Given the description of an element on the screen output the (x, y) to click on. 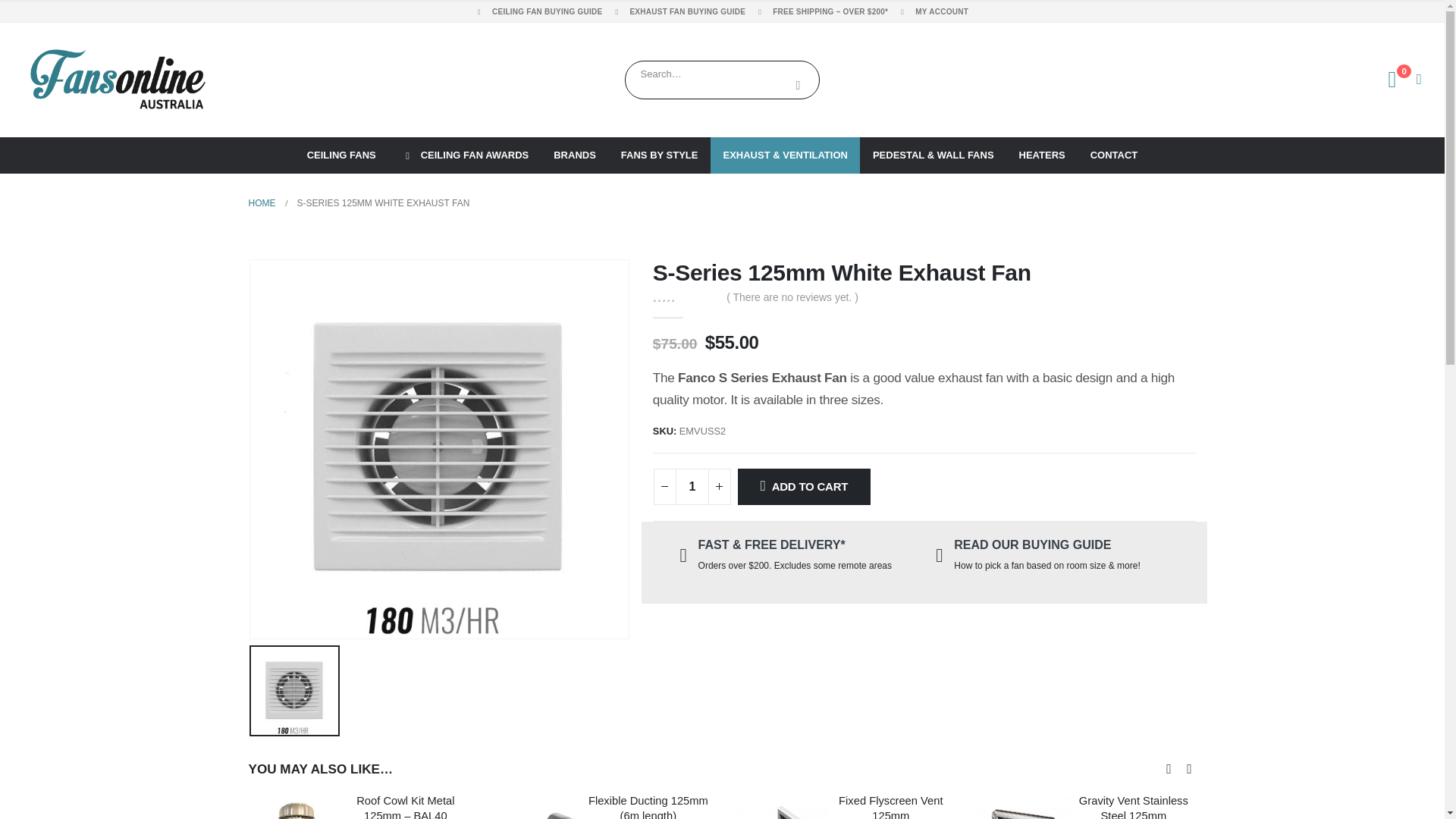
Go to Home Page (262, 203)
1 (692, 486)
Search (798, 85)
CEILING FANS (341, 155)
MY ACCOUNT (931, 12)
CEILING FAN BUYING GUIDE (538, 12)
EXHAUST FAN BUYING GUIDE (677, 12)
